Given the description of an element on the screen output the (x, y) to click on. 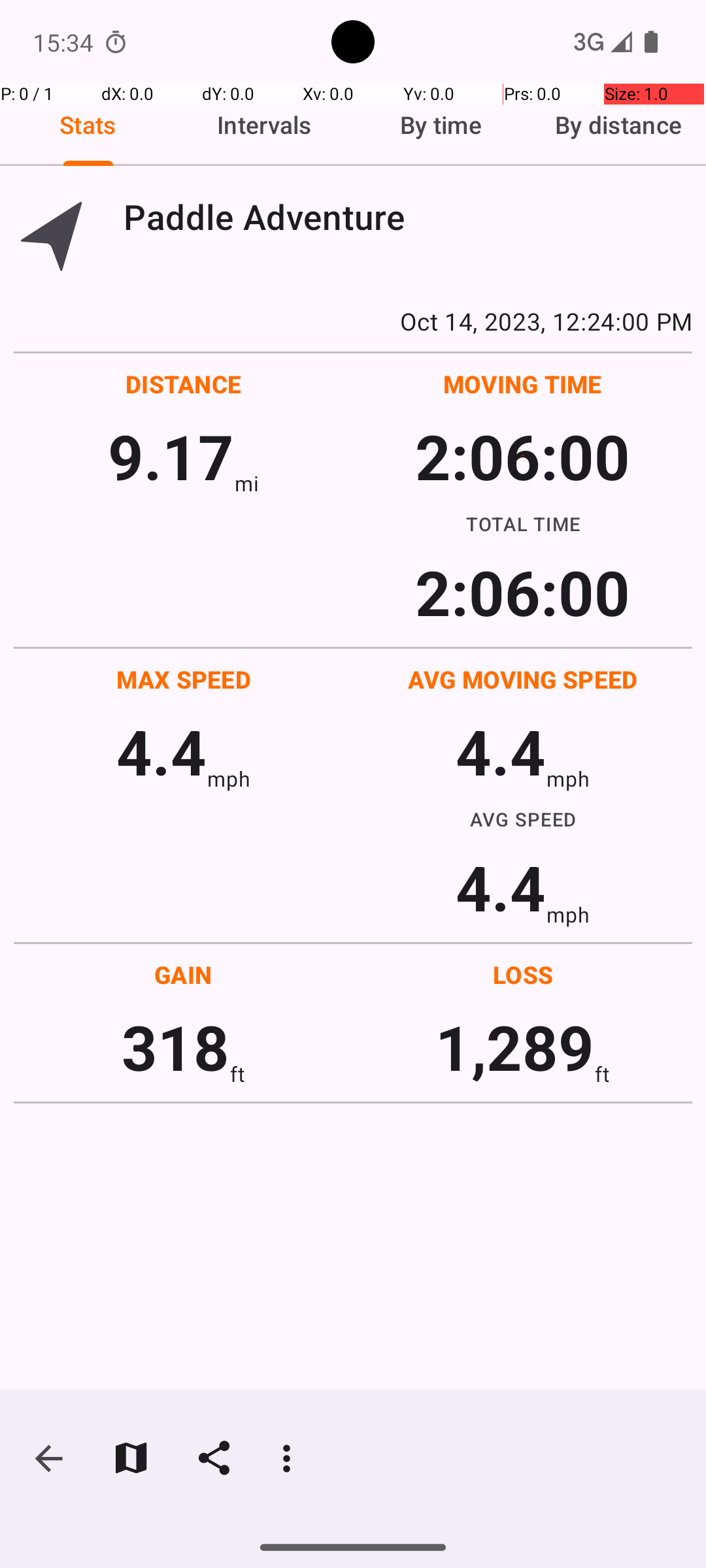
Paddle Adventure Element type: android.widget.TextView (407, 216)
Oct 14, 2023, 12:24:00 PM Element type: android.widget.TextView (352, 320)
9.17 Element type: android.widget.TextView (170, 455)
2:06:00 Element type: android.widget.TextView (522, 455)
4.4 Element type: android.widget.TextView (161, 750)
318 Element type: android.widget.TextView (175, 1045)
1,289 Element type: android.widget.TextView (514, 1045)
